Given the description of an element on the screen output the (x, y) to click on. 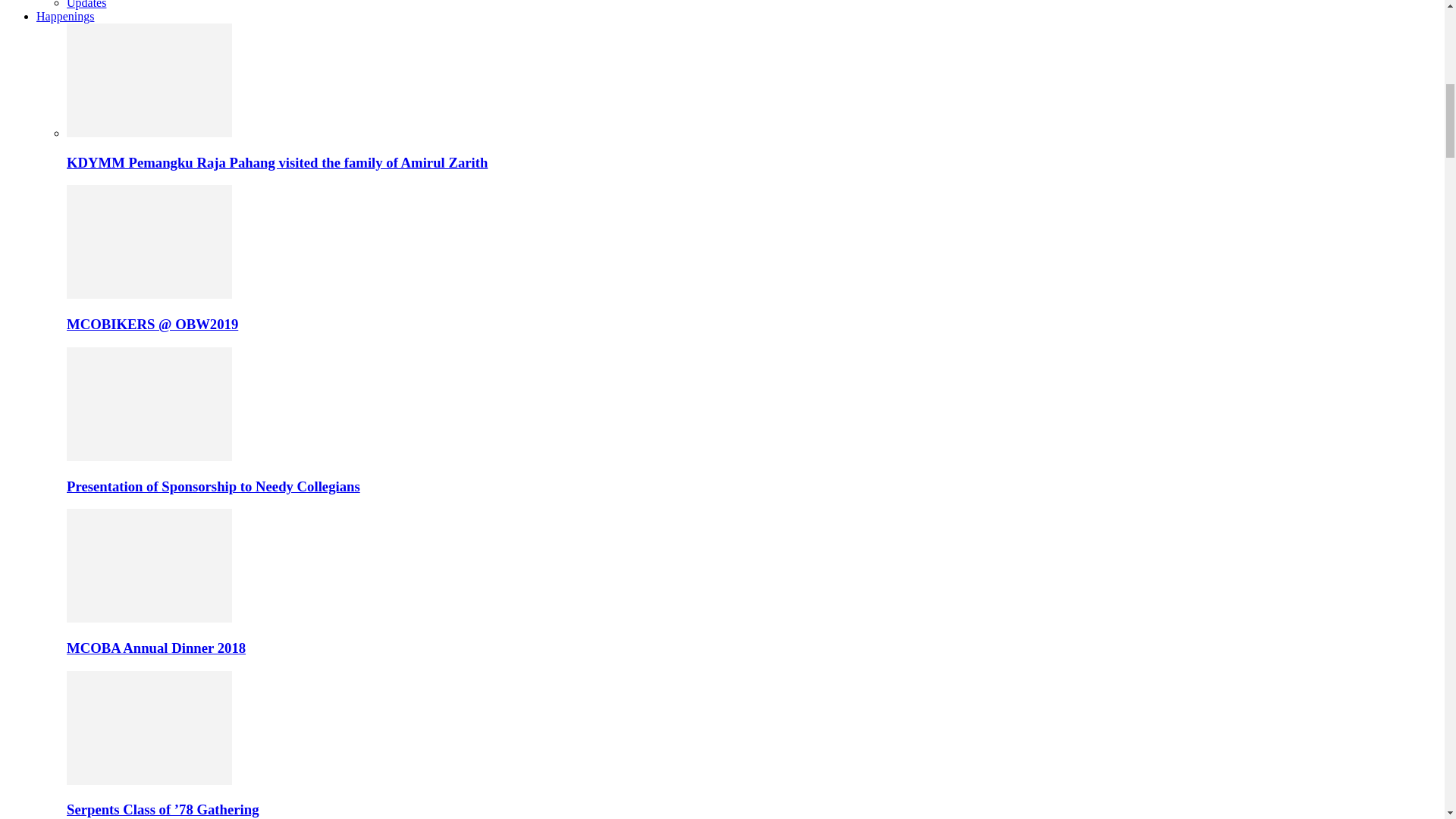
Happenings (65, 15)
Presentation of Sponsorship to Needy Collegians (212, 486)
Updates (86, 4)
MCOBA Annual Dinner 2018 (148, 565)
MCOBA Annual Dinner 2018 (148, 617)
Presentation of Sponsorship to Needy Collegians (148, 456)
Presentation of Sponsorship to Needy Collegians (148, 404)
MCOBA Annual Dinner 2018 (156, 647)
